Given the description of an element on the screen output the (x, y) to click on. 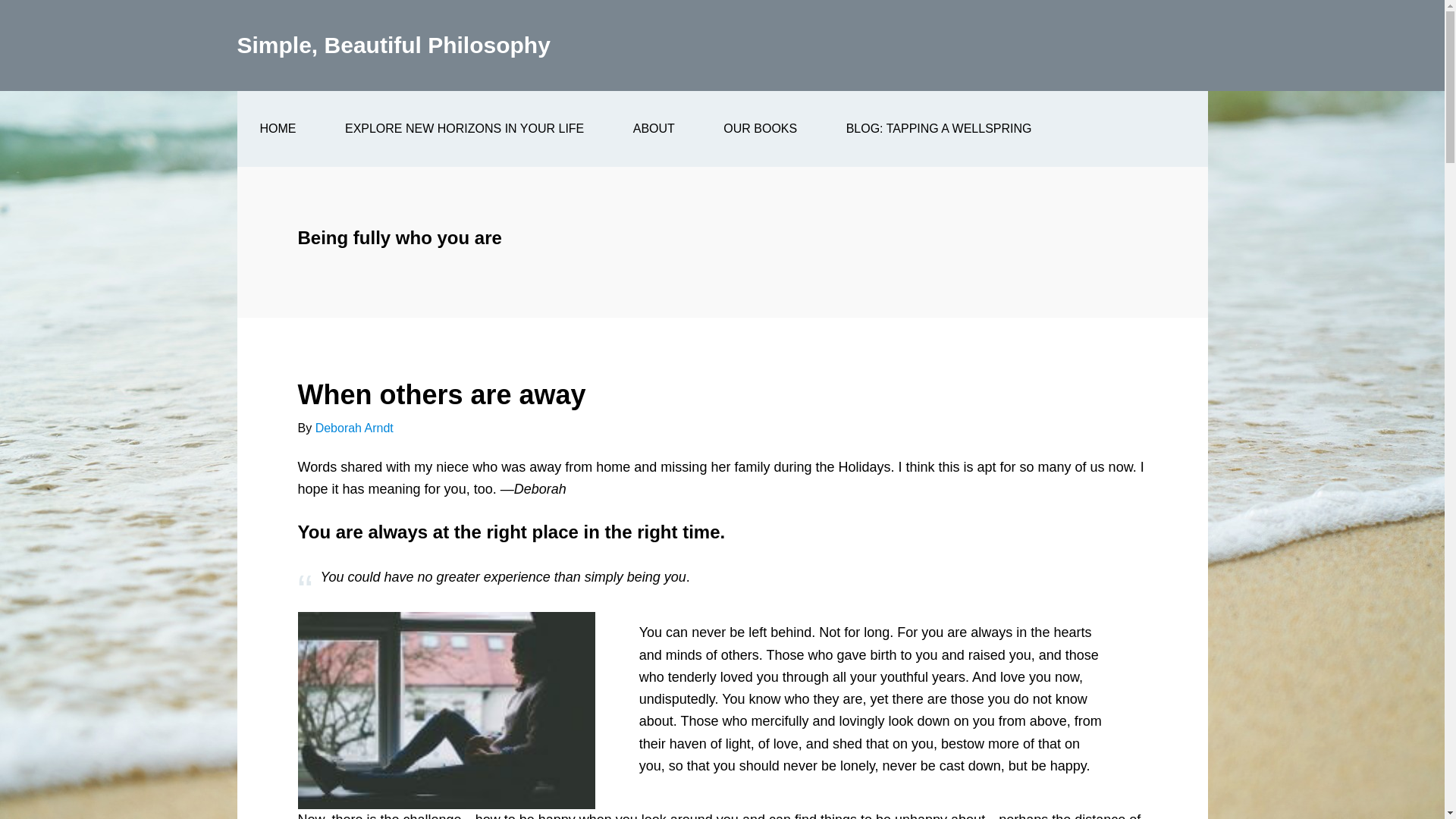
BLOG: TAPPING A WELLSPRING (939, 128)
When others are away (441, 394)
ABOUT (653, 128)
HOME (276, 128)
EXPLORE NEW HORIZONS IN YOUR LIFE (464, 128)
Simple, Beautiful Philosophy (392, 44)
Deborah Arndt (354, 427)
OUR BOOKS (759, 128)
